Given the description of an element on the screen output the (x, y) to click on. 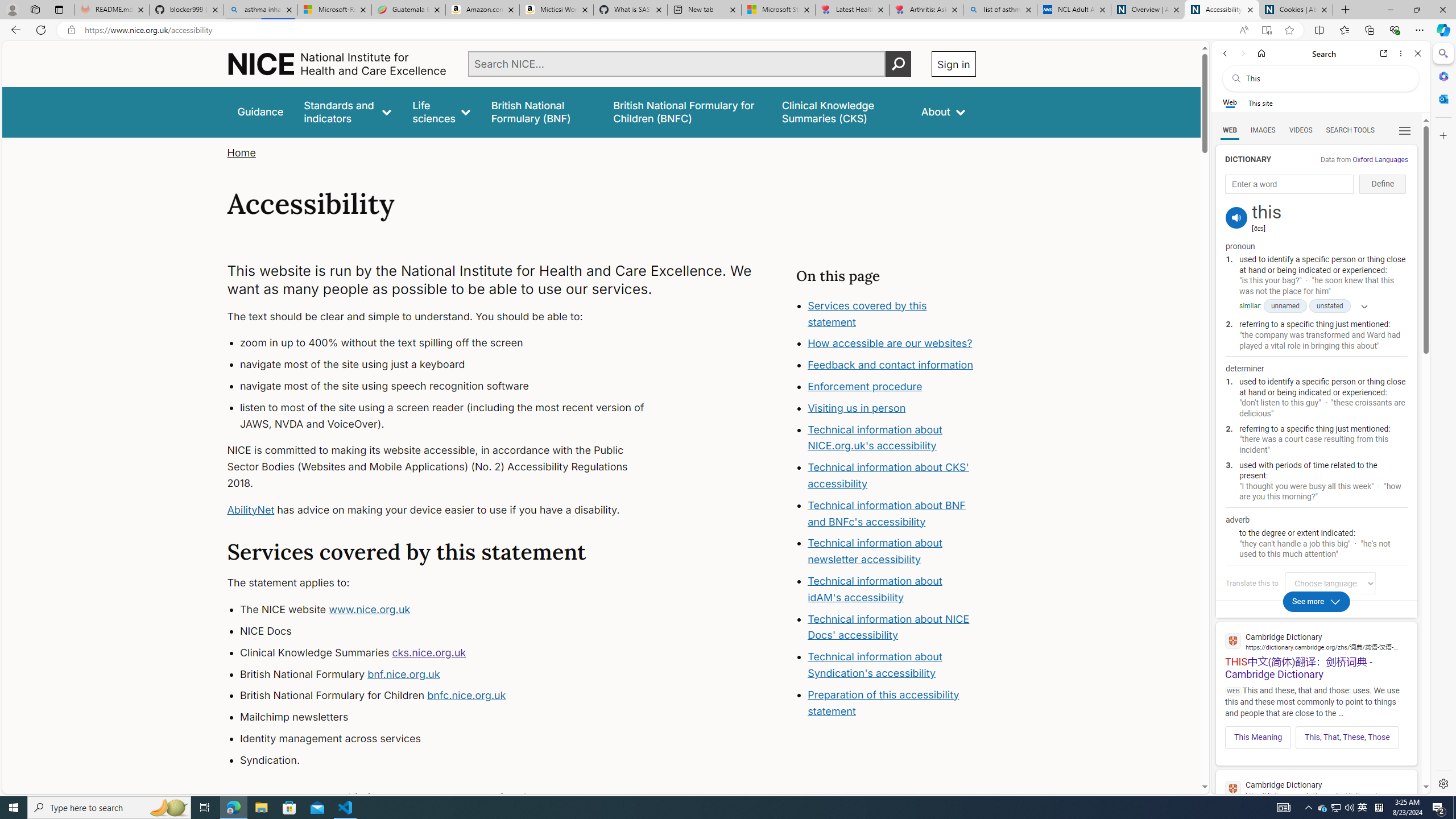
Cookies | About | NICE (1295, 9)
How accessible are our websites? (891, 343)
Enforcement procedure (865, 386)
false (841, 111)
Enforcement procedure (891, 386)
SEARCH TOOLS (1350, 130)
